Given the description of an element on the screen output the (x, y) to click on. 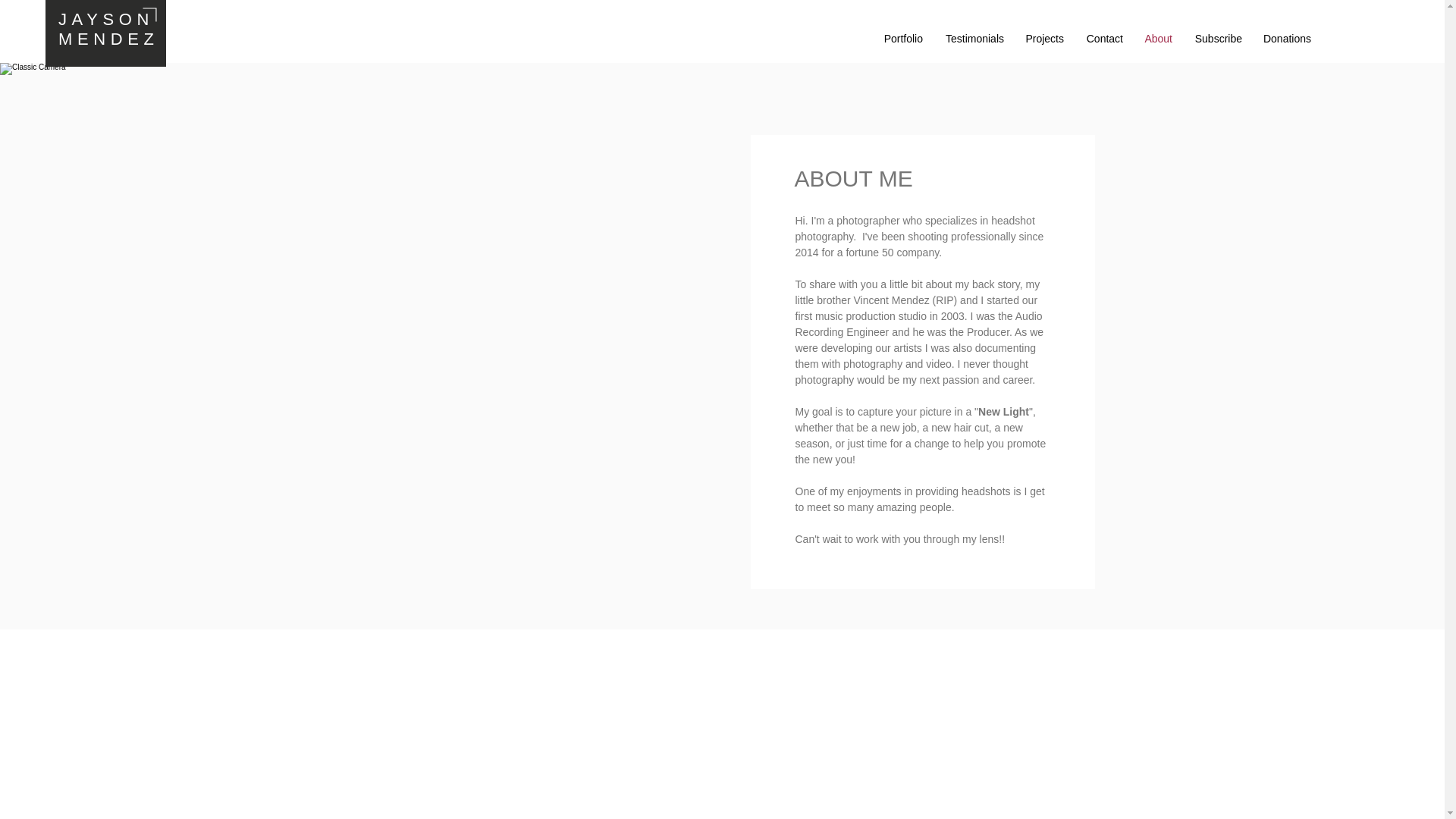
About (1157, 38)
Subscribe (1217, 38)
Donations (1286, 38)
Projects (1043, 38)
JAYSON MENDEZ (108, 28)
Portfolio (901, 38)
Contact (1103, 38)
Testimonials (973, 38)
